Given the description of an element on the screen output the (x, y) to click on. 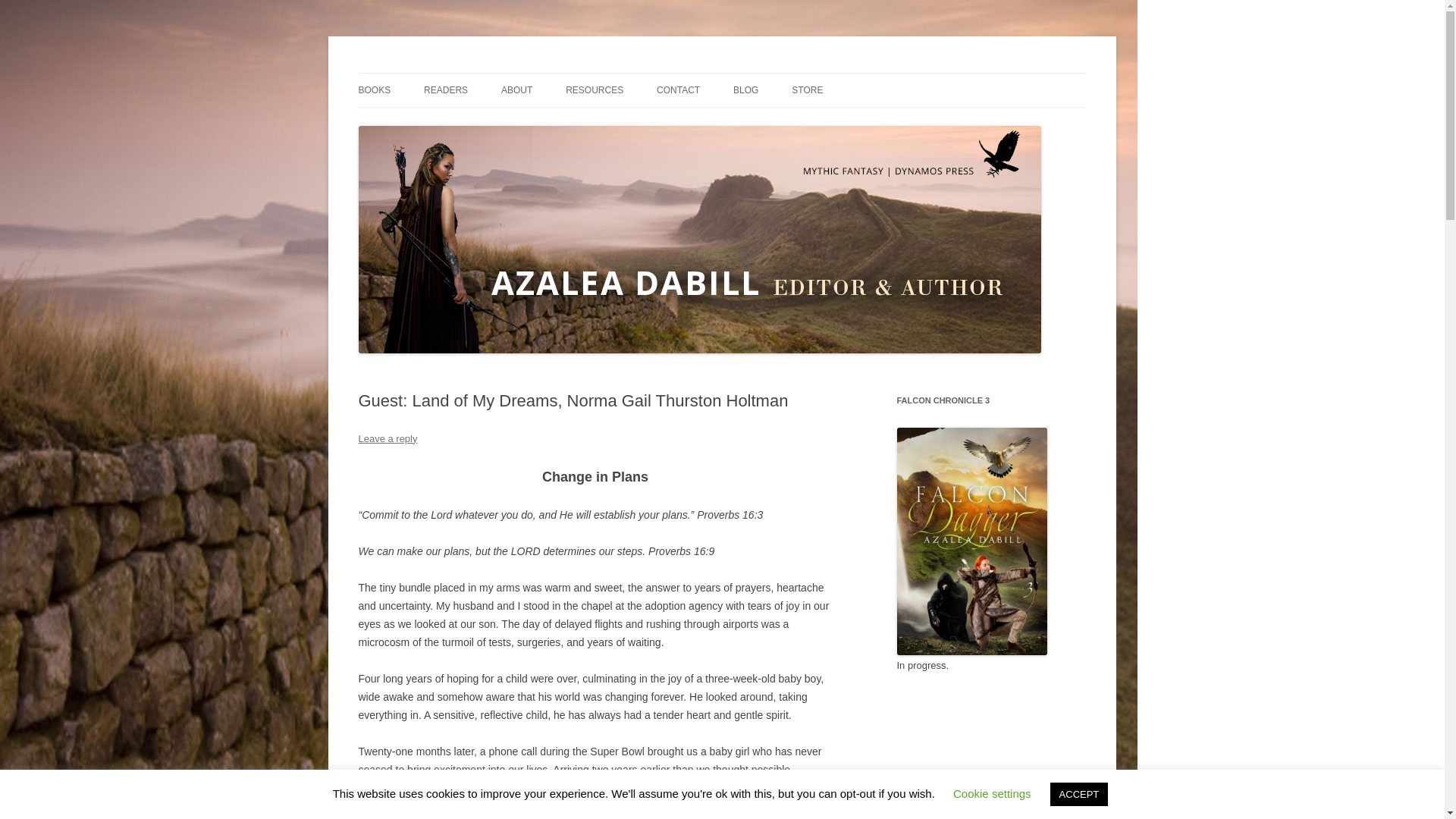
BOOKS (374, 90)
ABOUT (516, 90)
READERS (445, 90)
32 FREE HOW-TO WRITE FANTASY PDFS (641, 131)
PRIVACY POLICY (732, 122)
PRAY FOR YOUR AUTHORS (499, 122)
SHOPPING CART (867, 122)
FALCON HEART I (433, 122)
